Given the description of an element on the screen output the (x, y) to click on. 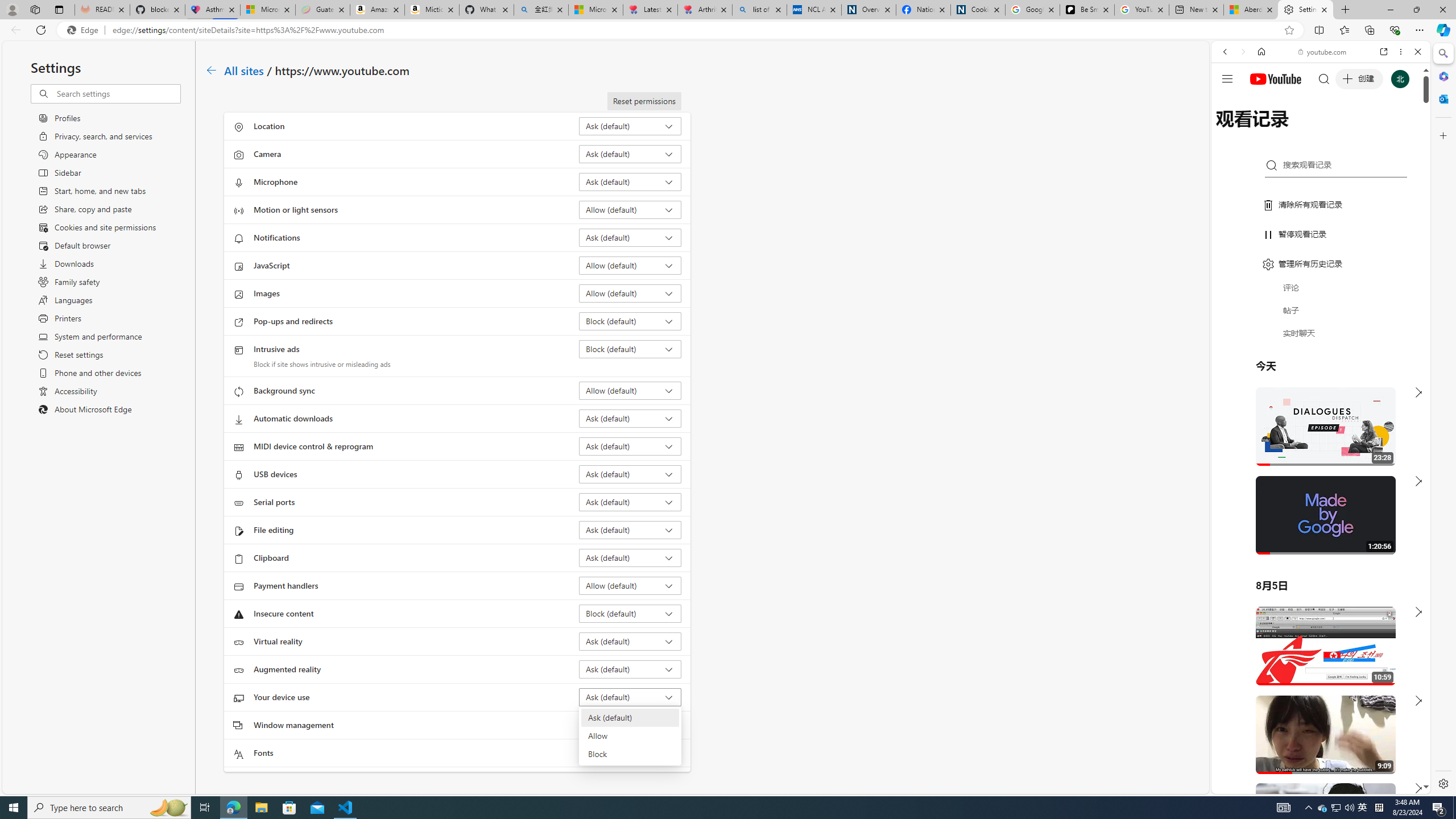
Clipboard Ask (default) (630, 557)
Ask (default) (629, 717)
